Given the description of an element on the screen output the (x, y) to click on. 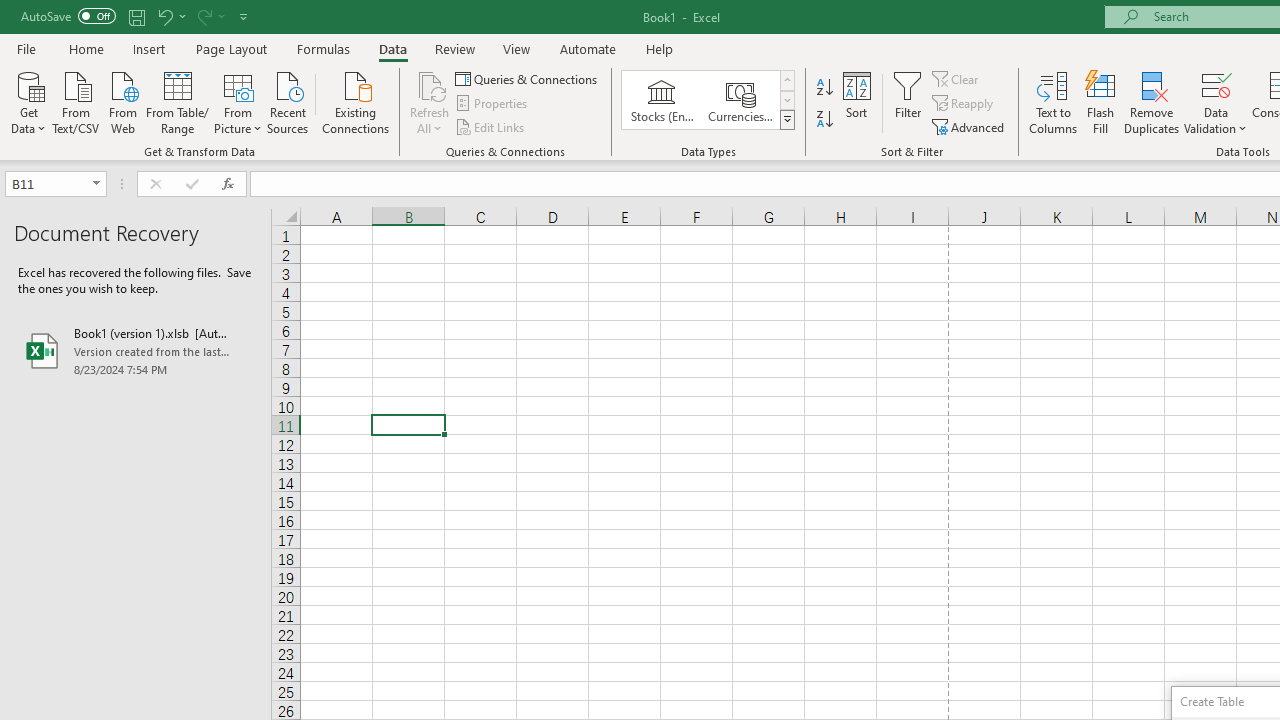
Edit Links (491, 126)
From Text/CSV (75, 101)
Flash Fill (1101, 102)
Data Types (786, 120)
Sort A to Z (824, 87)
Row up (786, 79)
Text to Columns... (1053, 102)
Get Data (28, 101)
Stocks (English) (662, 100)
